Given the description of an element on the screen output the (x, y) to click on. 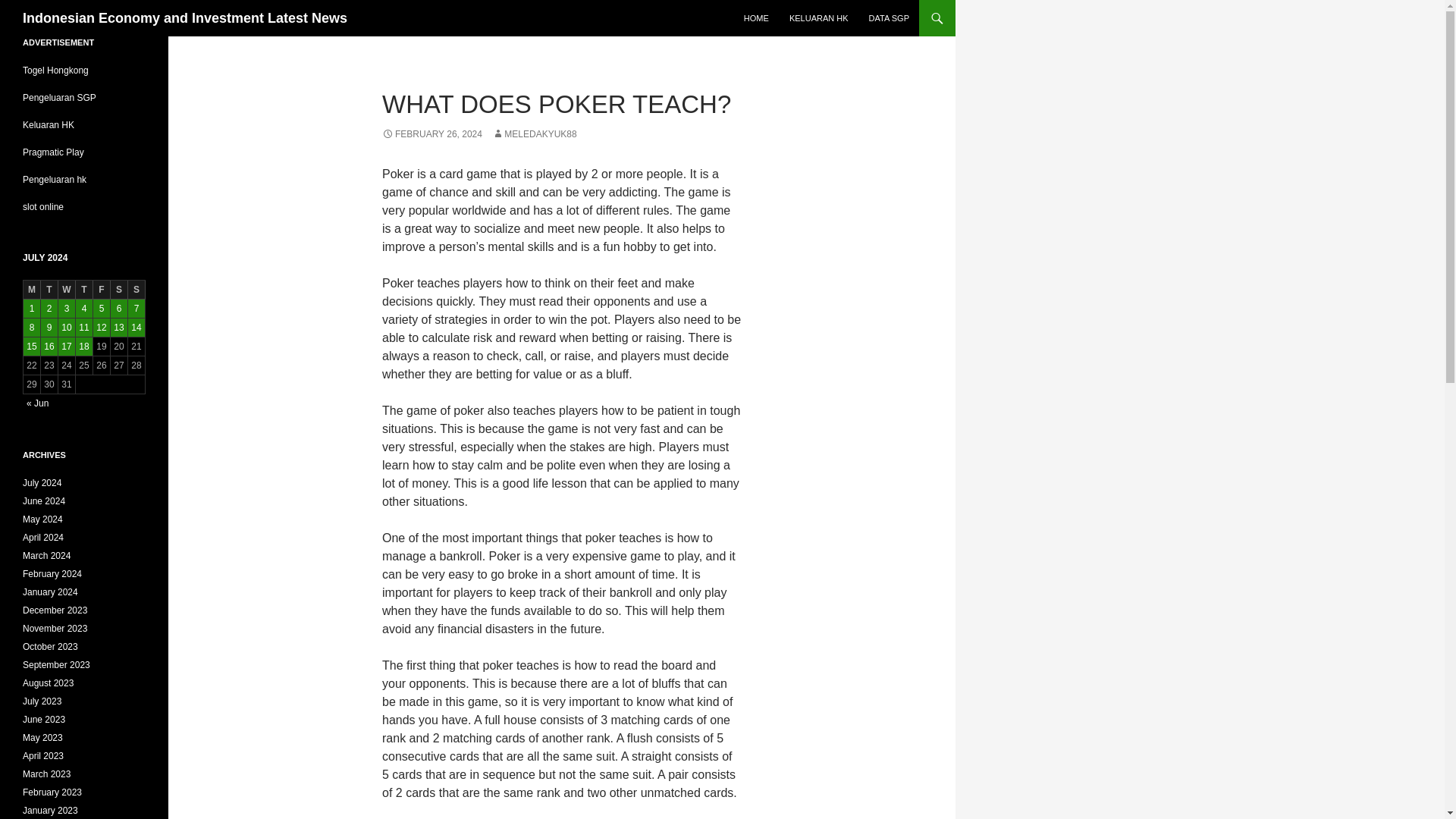
June 2024 (44, 501)
11 (84, 327)
Keluaran HK (48, 124)
16 (49, 346)
12 (101, 327)
14 (136, 327)
Pengeluaran hk (54, 179)
May 2024 (42, 519)
HOME (756, 18)
KELUARAN HK (818, 18)
DATA SGP (889, 18)
Pengeluaran SGP (59, 97)
3 (66, 308)
Tuesday (49, 289)
4 (84, 308)
